Given the description of an element on the screen output the (x, y) to click on. 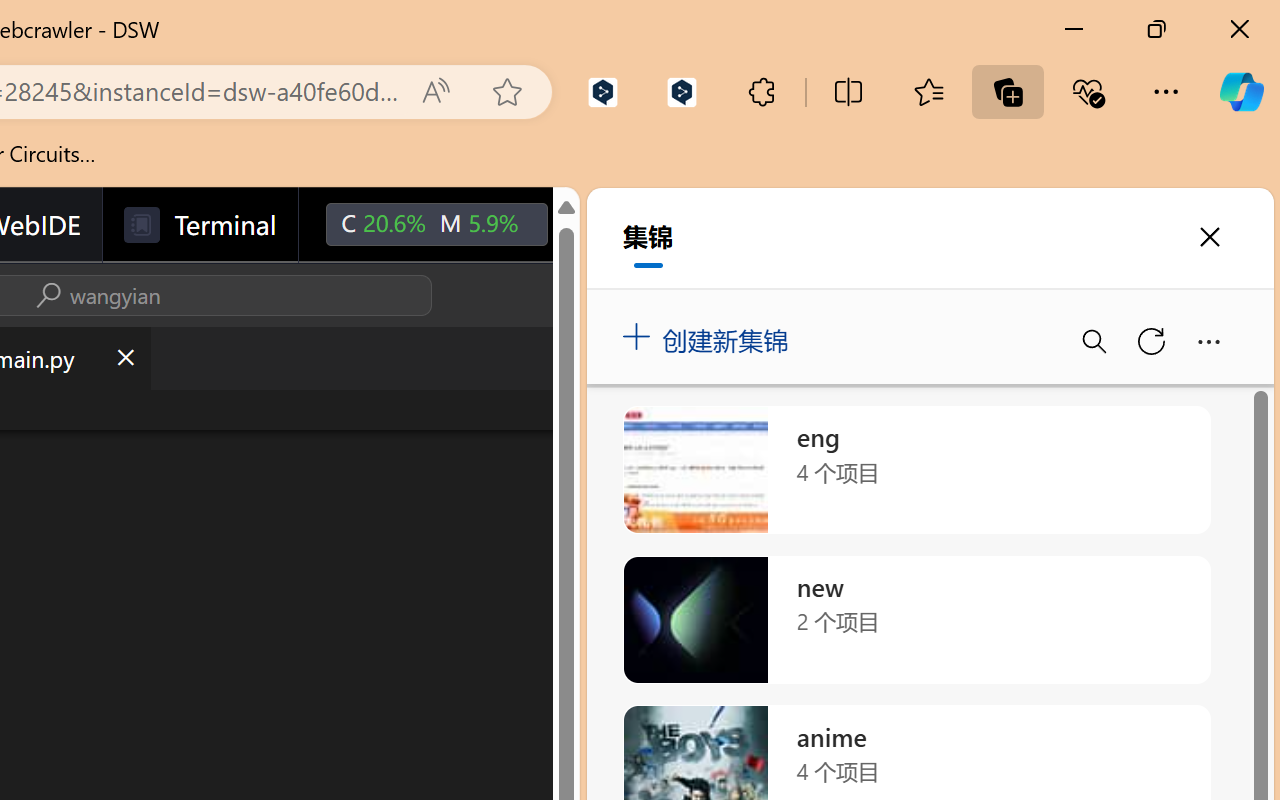
Class: actions-container (94, 295)
Copilot (Ctrl+Shift+.) (1241, 91)
Tab actions (123, 358)
icon (591, 224)
Terminal (199, 225)
icon (591, 220)
